Given the description of an element on the screen output the (x, y) to click on. 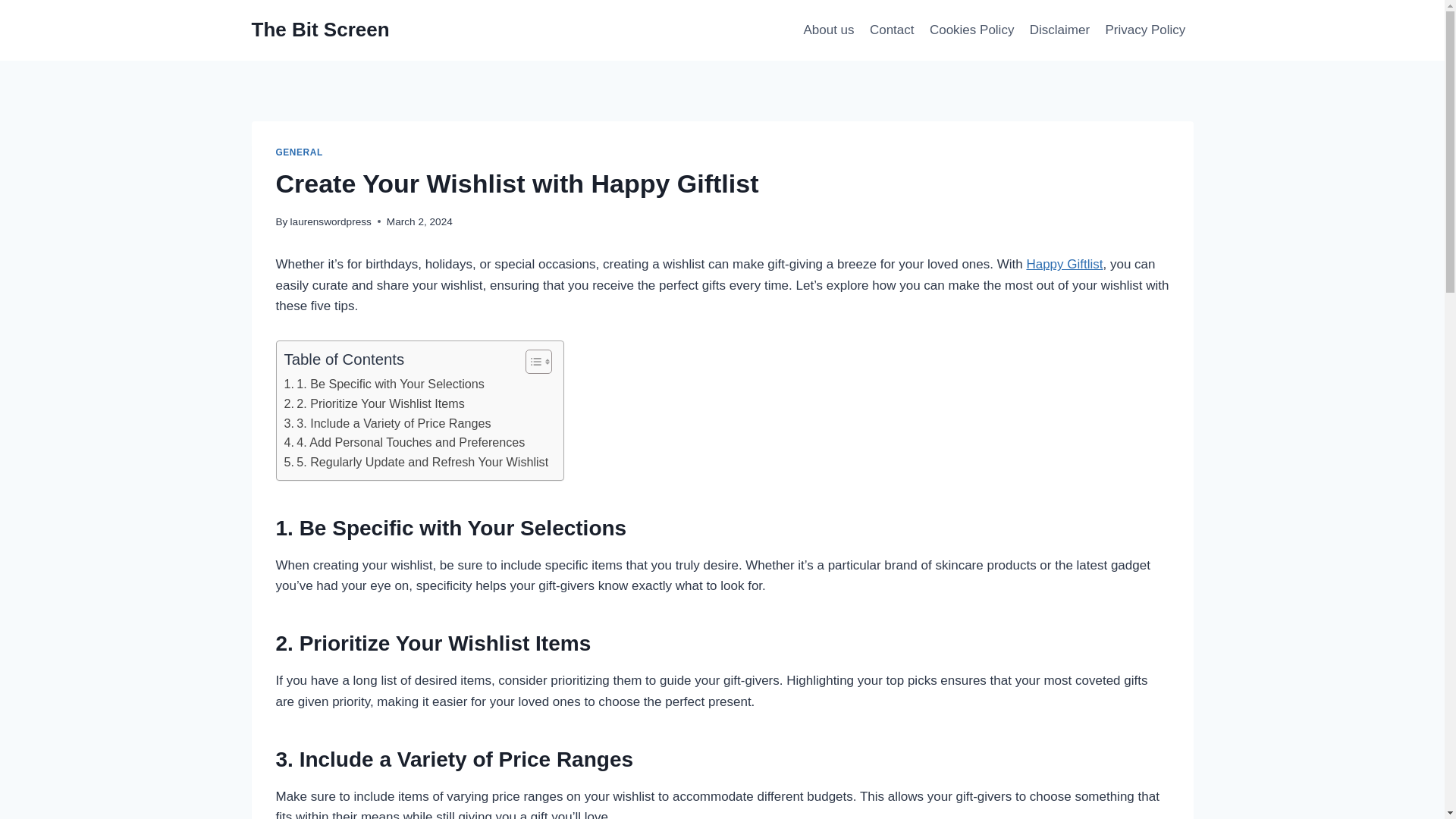
Happy Giftlist (1064, 264)
GENERAL (299, 152)
Disclaimer (1059, 30)
About us (827, 30)
2. Prioritize Your Wishlist Items (373, 403)
laurenswordpress (330, 221)
1. Be Specific with Your Selections (383, 383)
4. Add Personal Touches and Preferences (403, 442)
1. Be Specific with Your Selections (383, 383)
Cookies Policy (971, 30)
Contact (891, 30)
3. Include a Variety of Price Ranges (386, 424)
5. Regularly Update and Refresh Your Wishlist (415, 462)
4. Add Personal Touches and Preferences (403, 442)
3. Include a Variety of Price Ranges (386, 424)
